Given the description of an element on the screen output the (x, y) to click on. 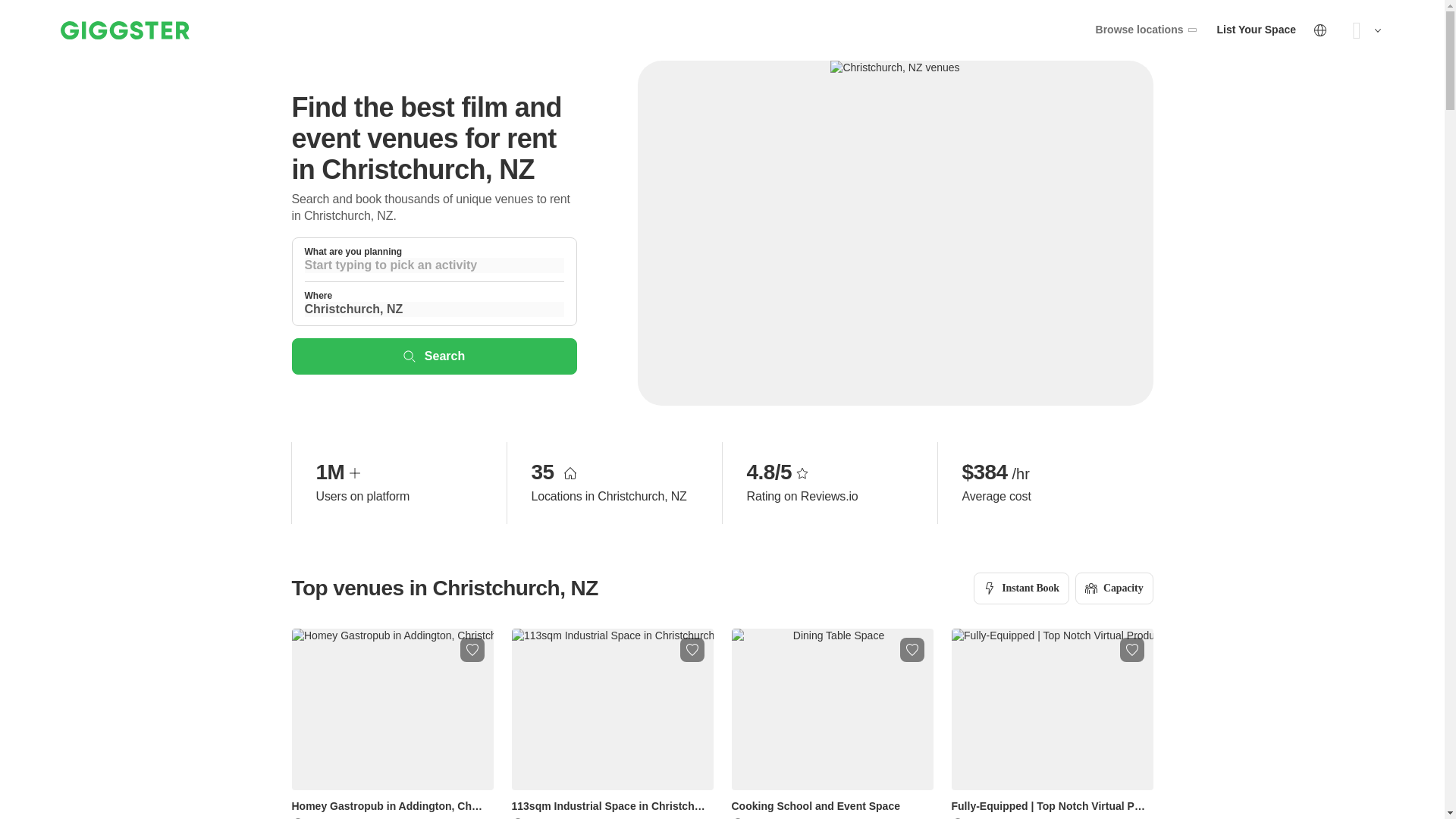
Instant book (1021, 588)
Christchurch, NZ (434, 309)
Christchurch, NZ (434, 309)
113sqm Industrial Space in Christchurch (612, 723)
Cooking School and Event Space (831, 723)
Browse locations (1147, 29)
Homey Gastropub in Addington, Christchurch  (392, 723)
Capacity (1114, 588)
Christchurch, NZ venues (894, 68)
